Given the description of an element on the screen output the (x, y) to click on. 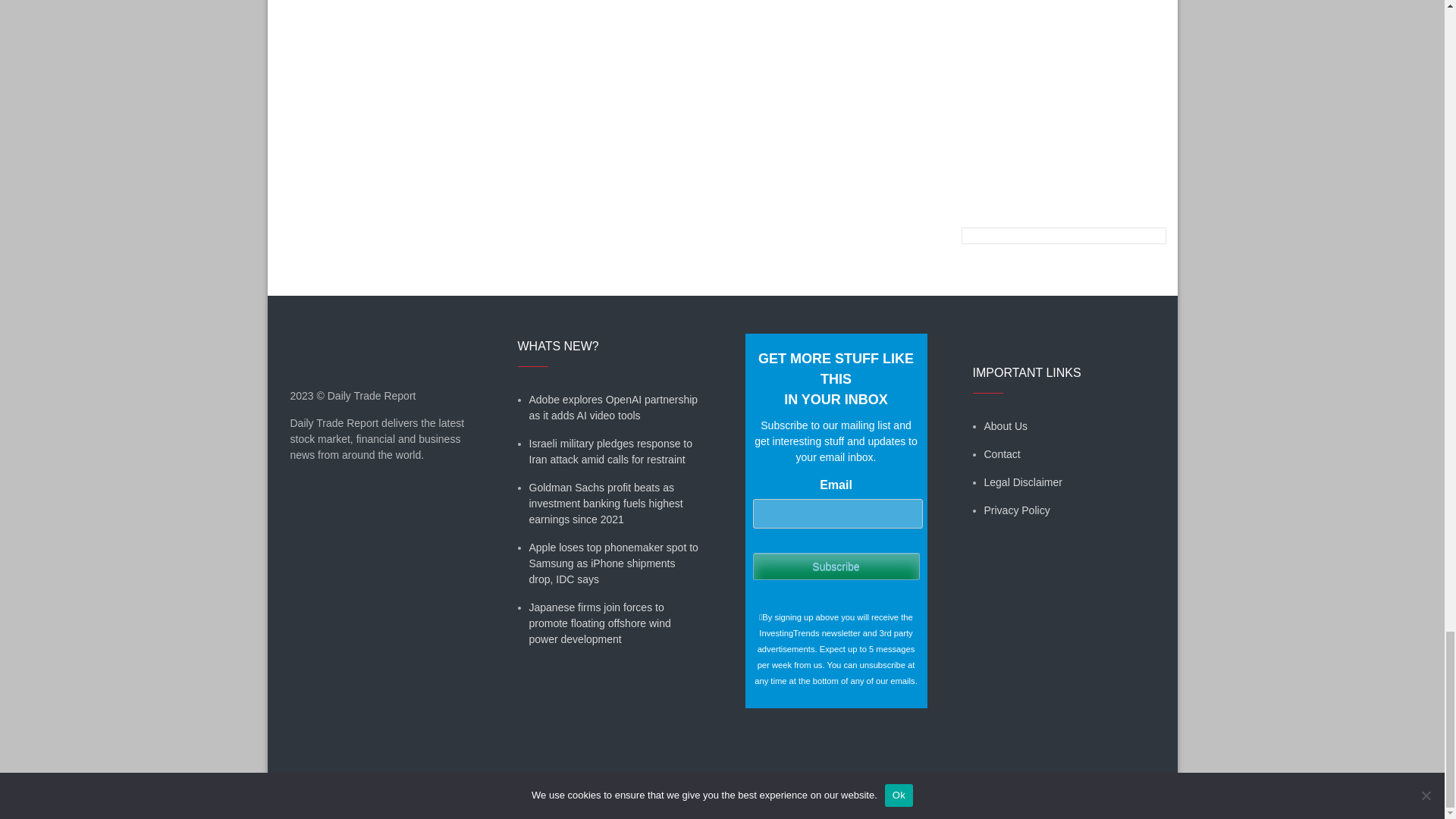
Subscribe (835, 565)
